Given the description of an element on the screen output the (x, y) to click on. 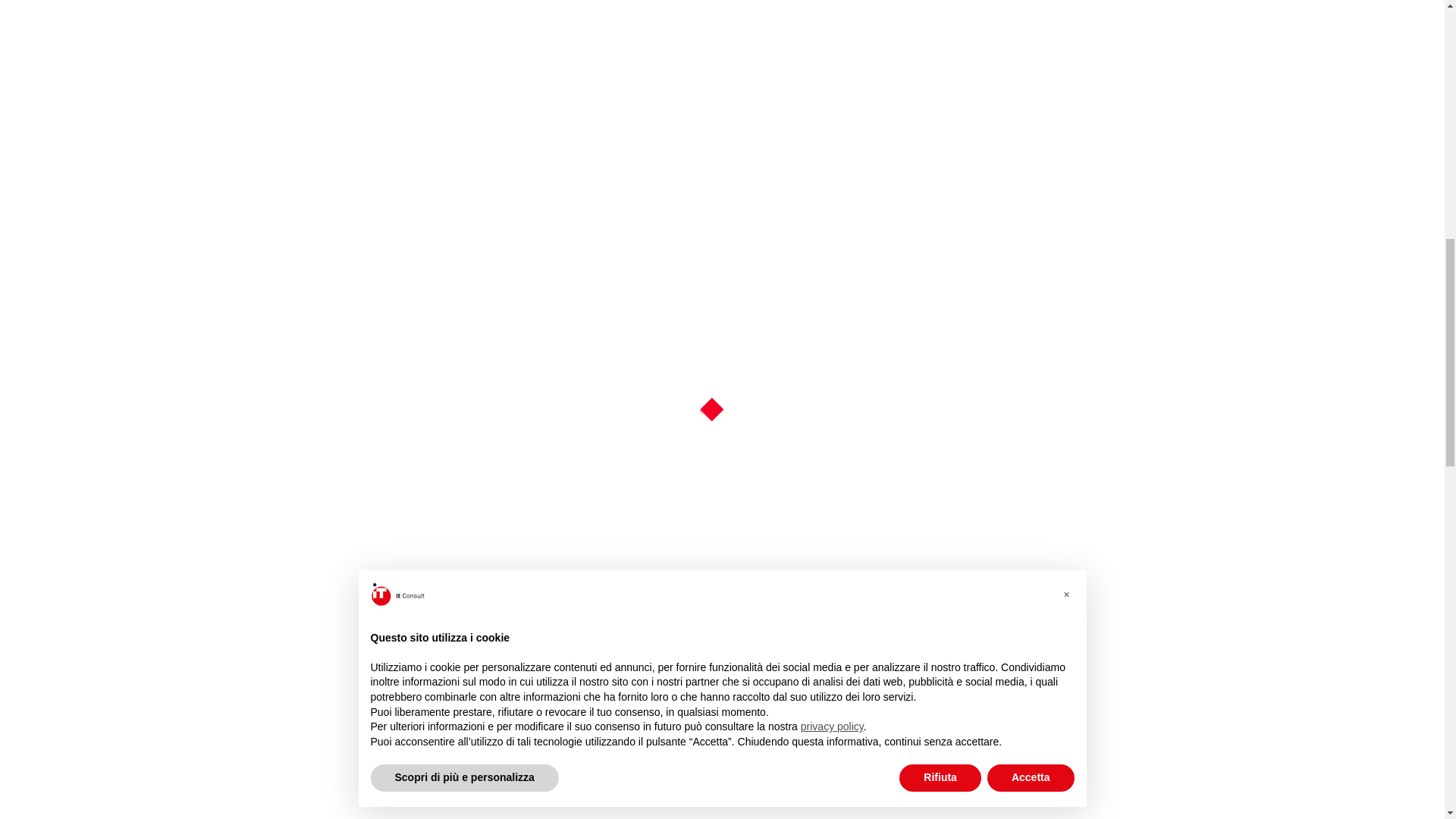
joshArchive! (964, 137)
josh (946, 100)
SharePoint (1064, 137)
josh Protocol! (1031, 100)
